Given the description of an element on the screen output the (x, y) to click on. 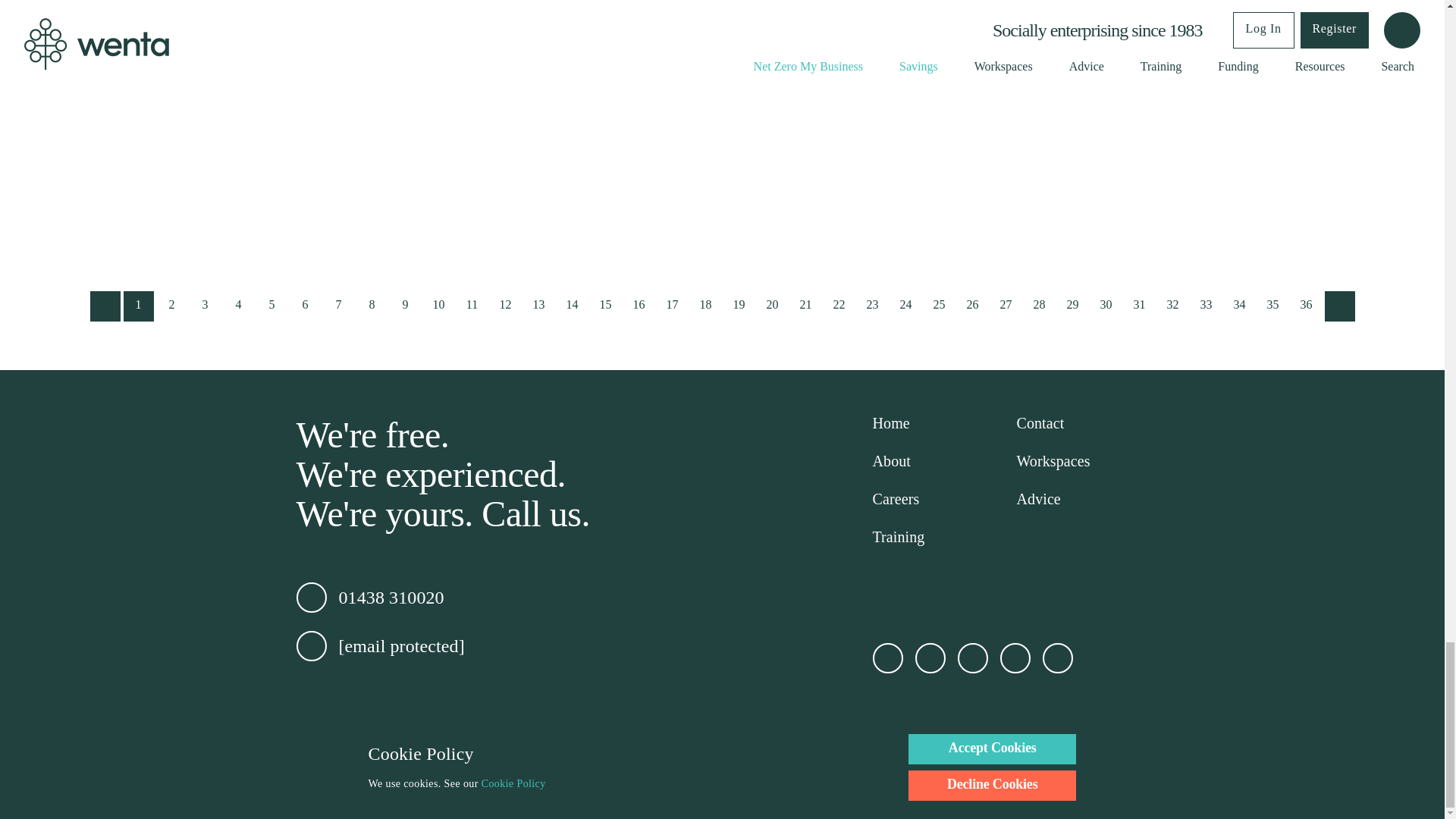
21 (805, 306)
18 (705, 306)
12 (504, 306)
19 (738, 306)
8 (371, 306)
13 (537, 306)
10 (437, 306)
1 (137, 306)
7 (338, 306)
2 (170, 306)
3 (204, 306)
20 (772, 306)
4 (237, 306)
17 (671, 306)
16 (638, 306)
